Given the description of an element on the screen output the (x, y) to click on. 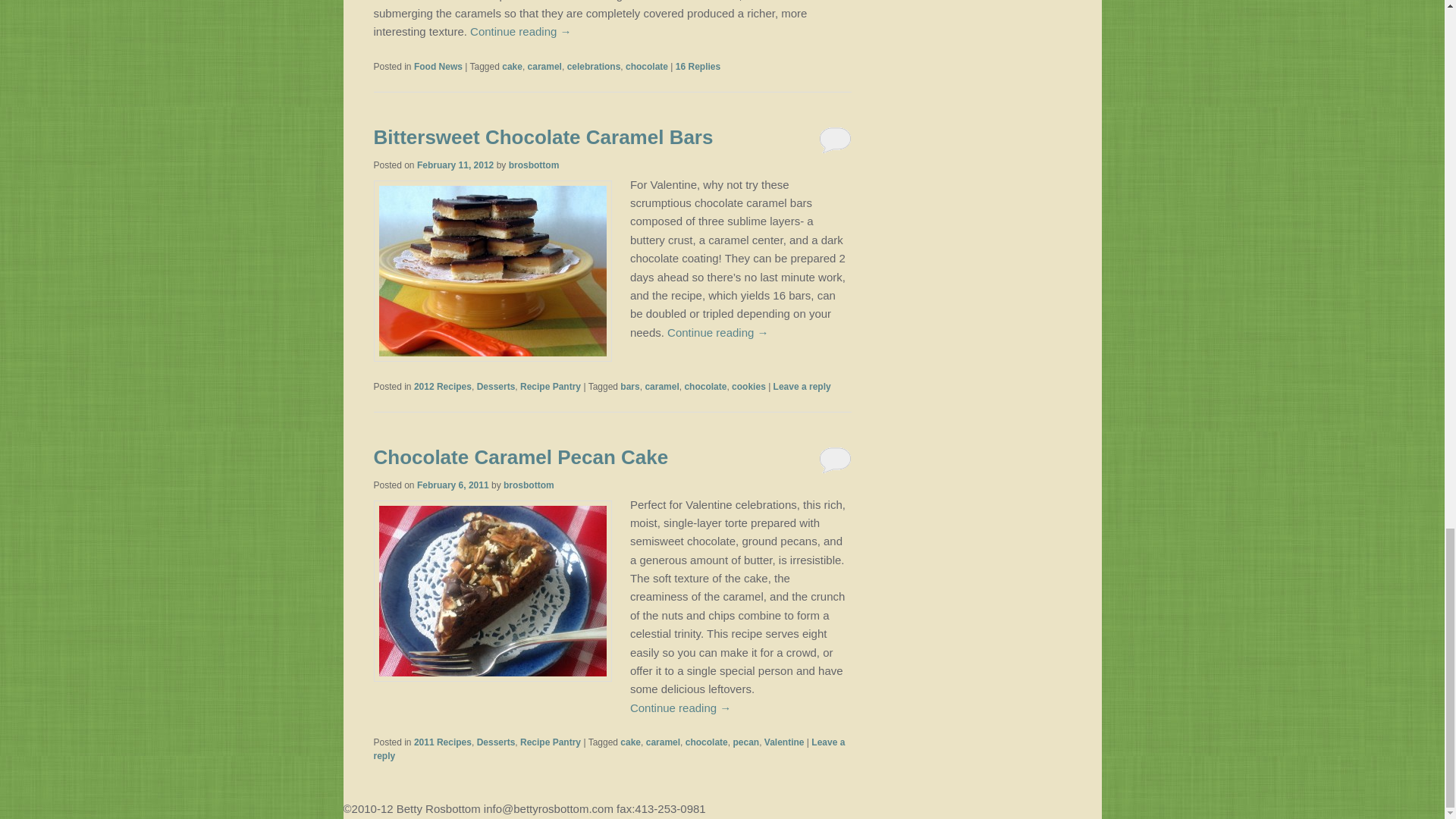
Food News (438, 66)
View all posts by brosbottom (533, 164)
5:35 pm (454, 164)
caramel (544, 66)
Bittersweet Chocolate Caramel Bars (542, 137)
cake (512, 66)
celebrations (594, 66)
Permalink to Chocolate Caramel Pecan Cake (520, 456)
Permalink to Bittersweet Chocolate Caramel Bars (542, 137)
chocolate (647, 66)
16 Replies (697, 66)
